Given the description of an element on the screen output the (x, y) to click on. 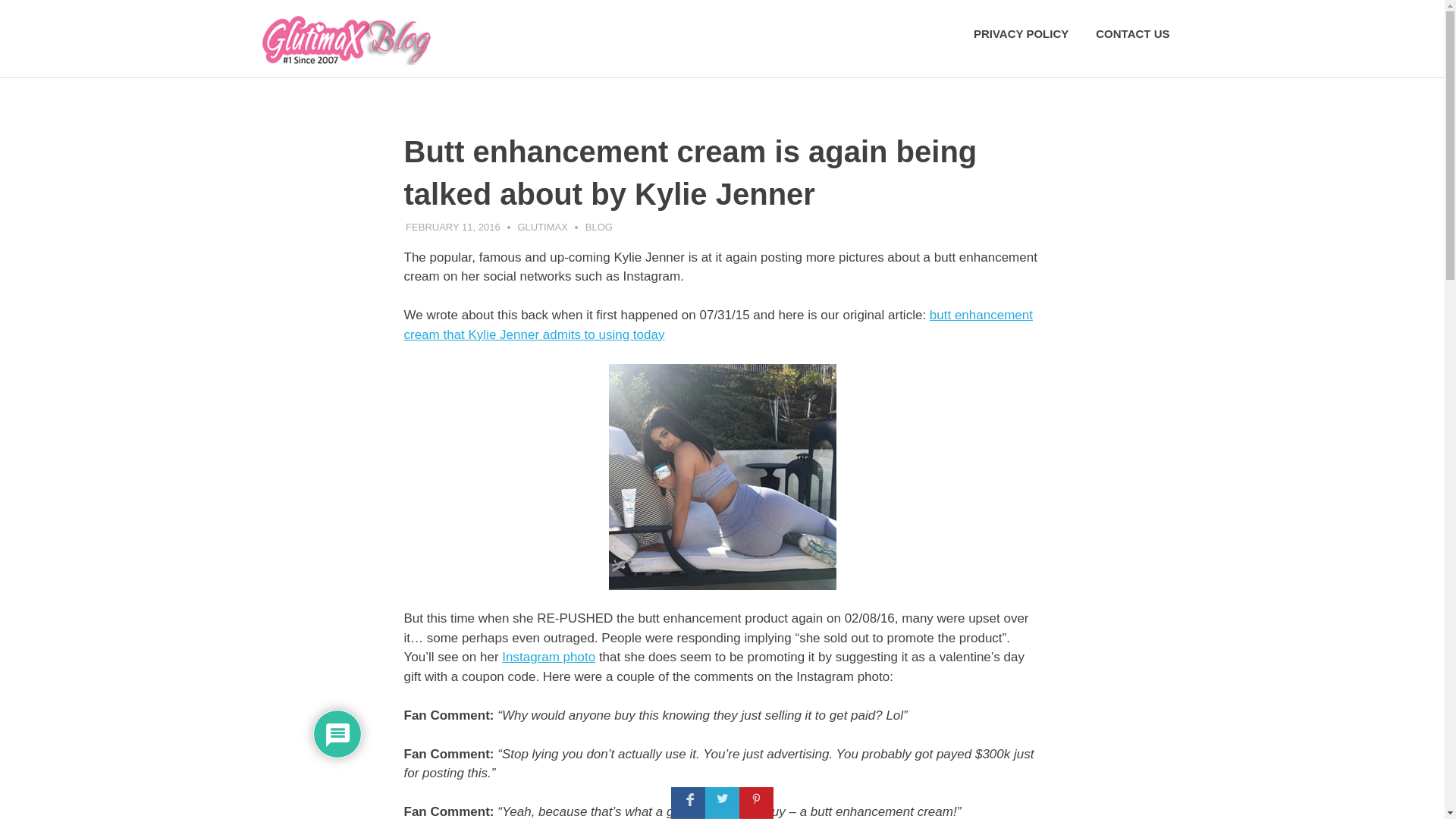
View all posts by Glutimax (541, 226)
Instagram photo (548, 657)
CONTACT US (1131, 34)
12:27 AM (453, 226)
GLUTIMAX (541, 226)
PRIVACY POLICY (1020, 34)
Instagram photo (548, 657)
BLOG (598, 226)
